Given the description of an element on the screen output the (x, y) to click on. 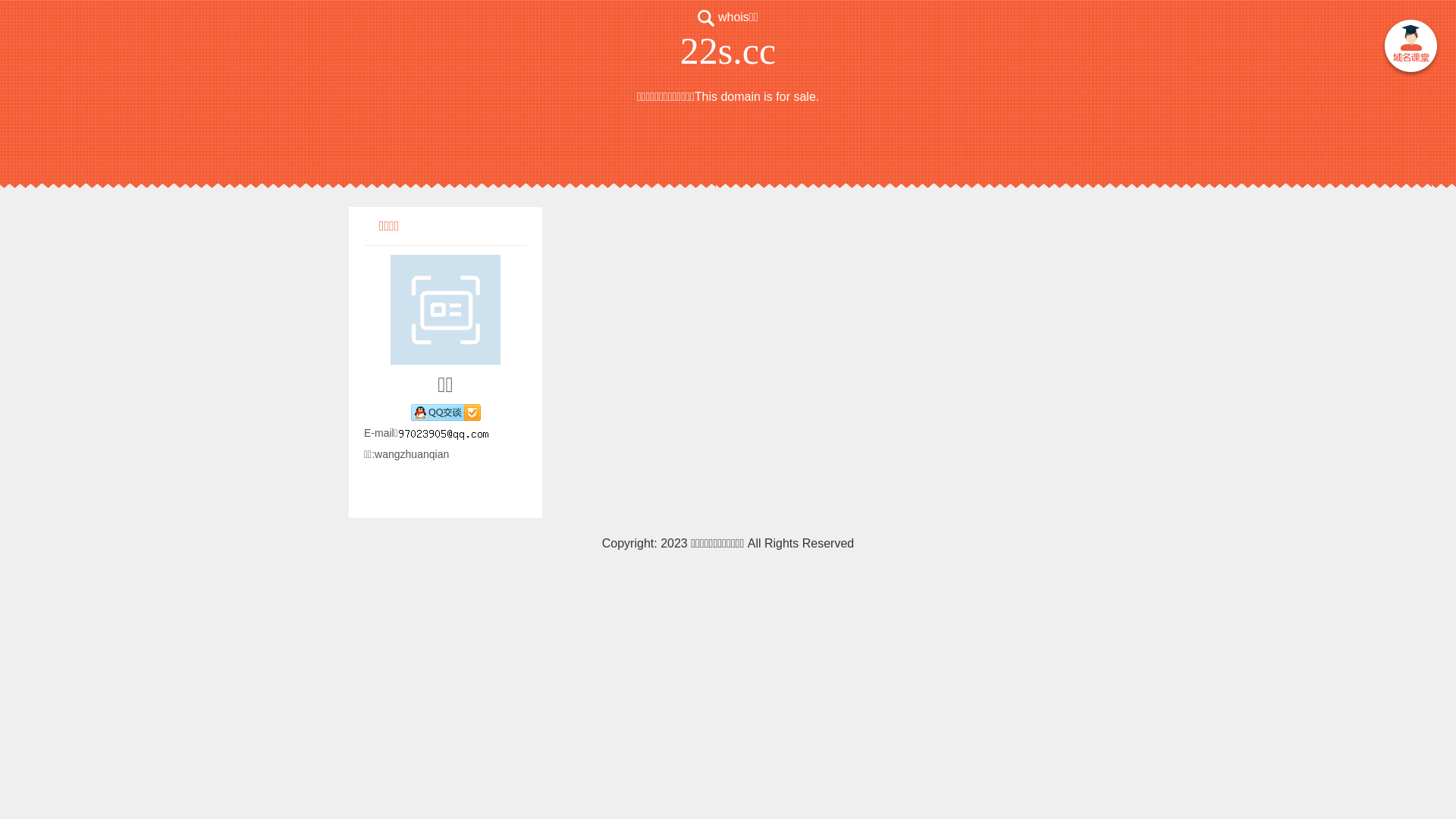
  Element type: text (1410, 48)
